Given the description of an element on the screen output the (x, y) to click on. 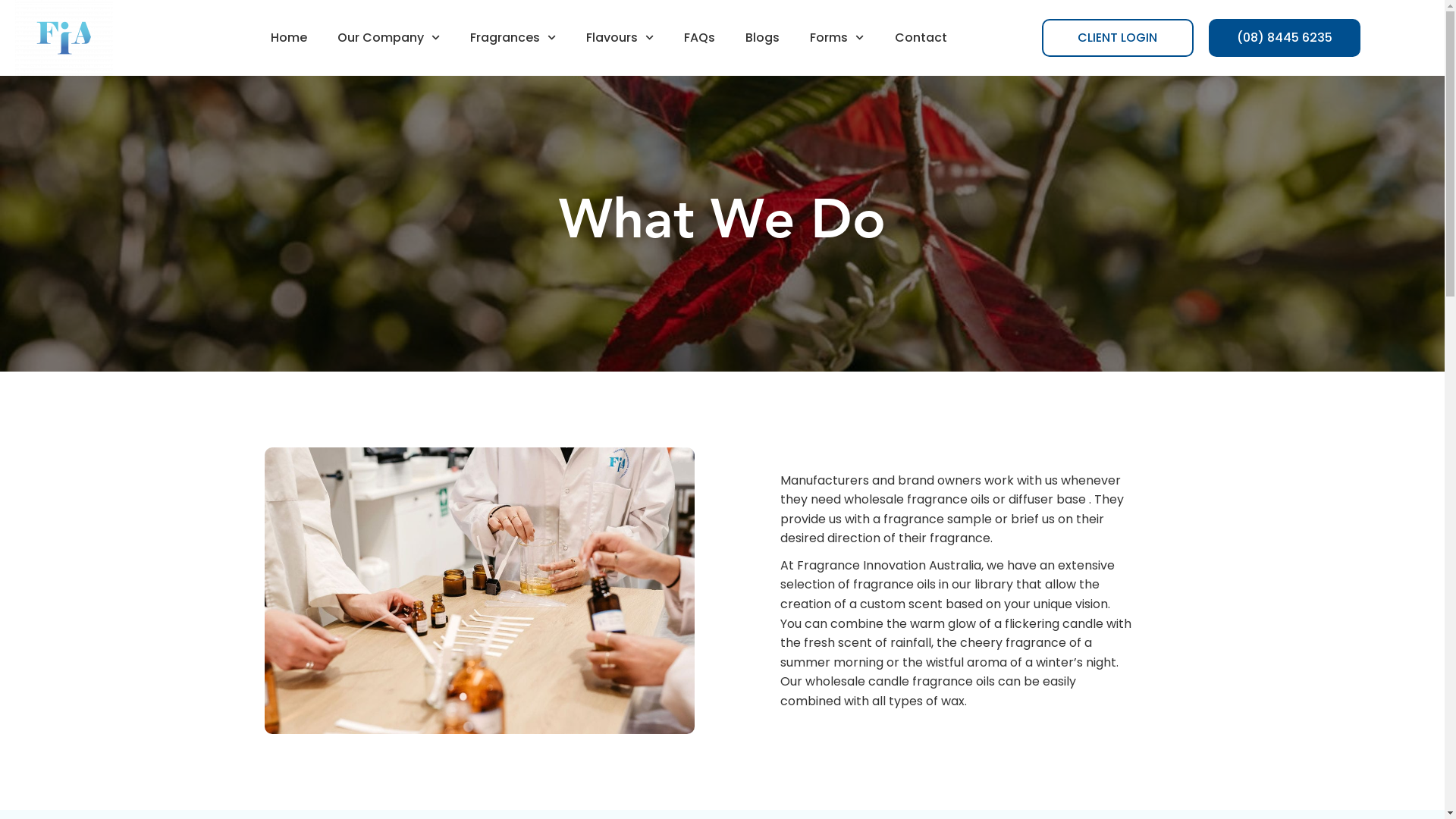
Flavours Element type: text (619, 37)
CLIENT LOGIN Element type: text (1117, 37)
Fragrances Element type: text (513, 37)
logo Element type: hover (63, 37)
Home Element type: text (288, 37)
(08) 8445 6235 Element type: text (1284, 37)
FAQs Element type: text (699, 37)
Forms Element type: text (836, 37)
Our Company Element type: text (388, 37)
Contact Element type: text (920, 37)
Blogs Element type: text (762, 37)
